Given the description of an element on the screen output the (x, y) to click on. 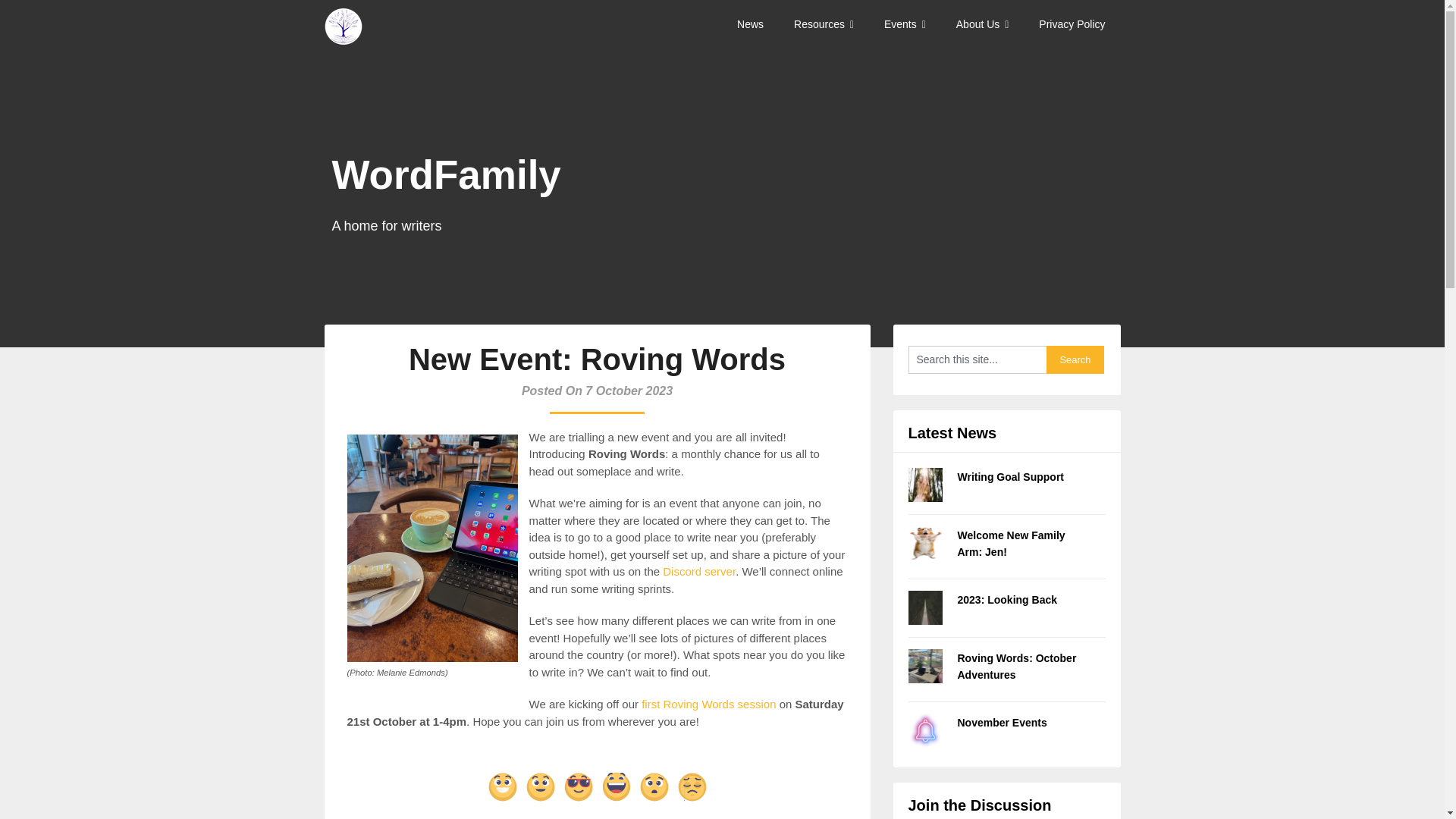
Privacy Policy (1071, 24)
Search (1075, 359)
About Us (982, 24)
Permalink to Welcome New Family Arm: Jen! (1010, 543)
Permalink to Writing Goal Support (1010, 476)
2023: Looking Back (1006, 599)
Search this site... (977, 359)
Permalink to Roving Words: October Adventures (1015, 665)
Discord server (698, 571)
Permalink to 2023: Looking Back (1006, 599)
